Given the description of an element on the screen output the (x, y) to click on. 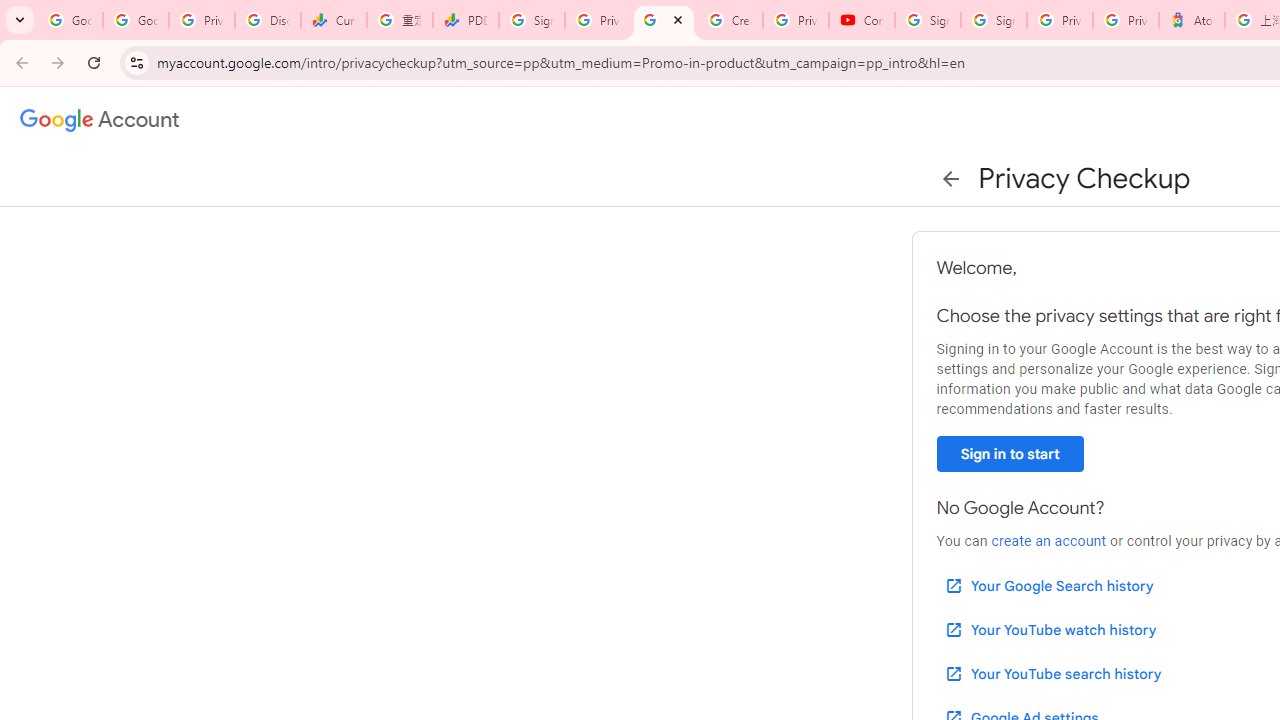
Your YouTube search history (1052, 673)
Sign in - Google Accounts (927, 20)
Google Account settings (100, 120)
Sign in to start (1009, 454)
Your YouTube watch history (1049, 630)
Atour Hotel - Google hotels (1191, 20)
Sign in - Google Accounts (531, 20)
Currencies - Google Finance (333, 20)
